Given the description of an element on the screen output the (x, y) to click on. 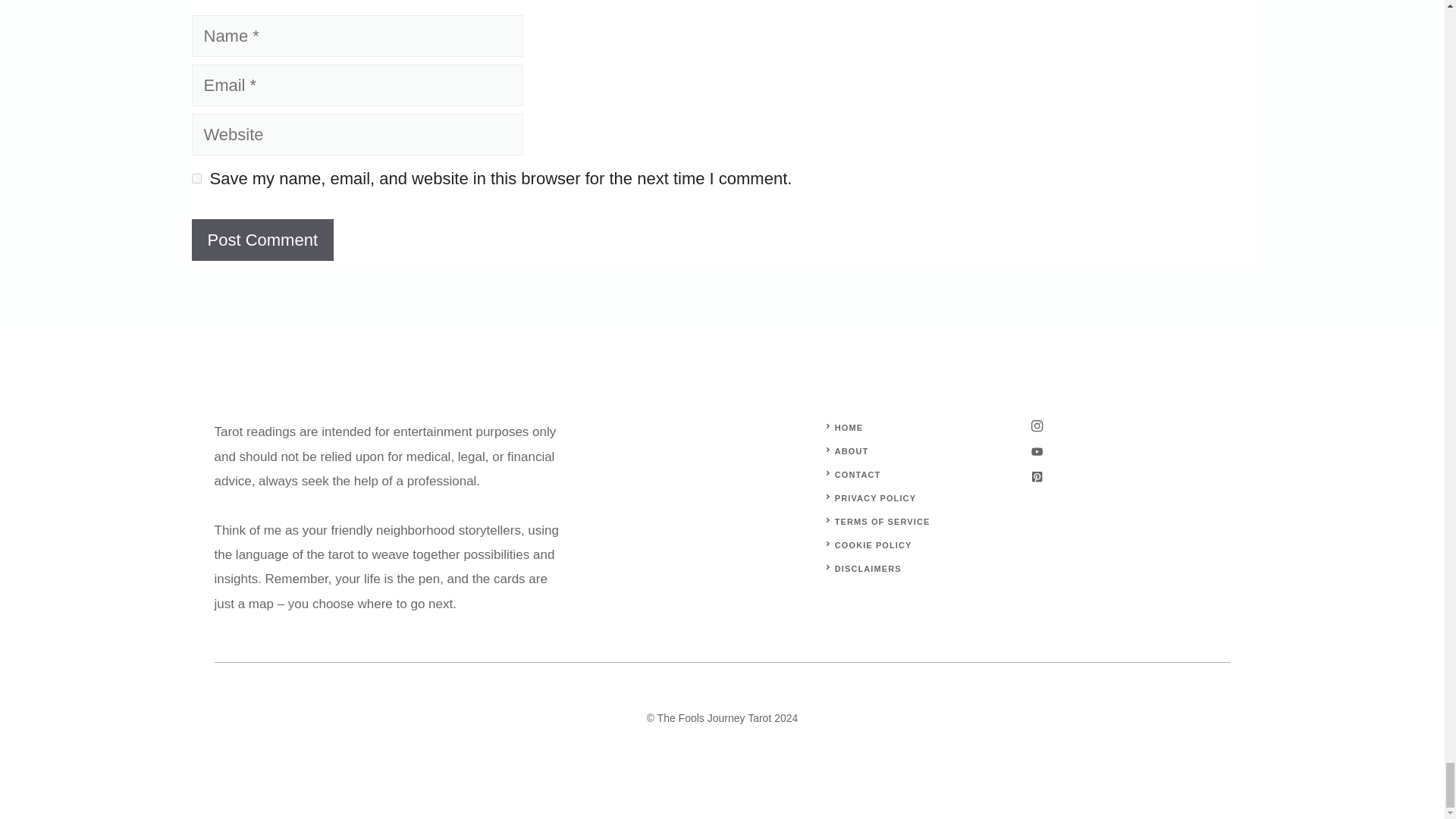
yes (195, 178)
Post Comment (261, 240)
